Given the description of an element on the screen output the (x, y) to click on. 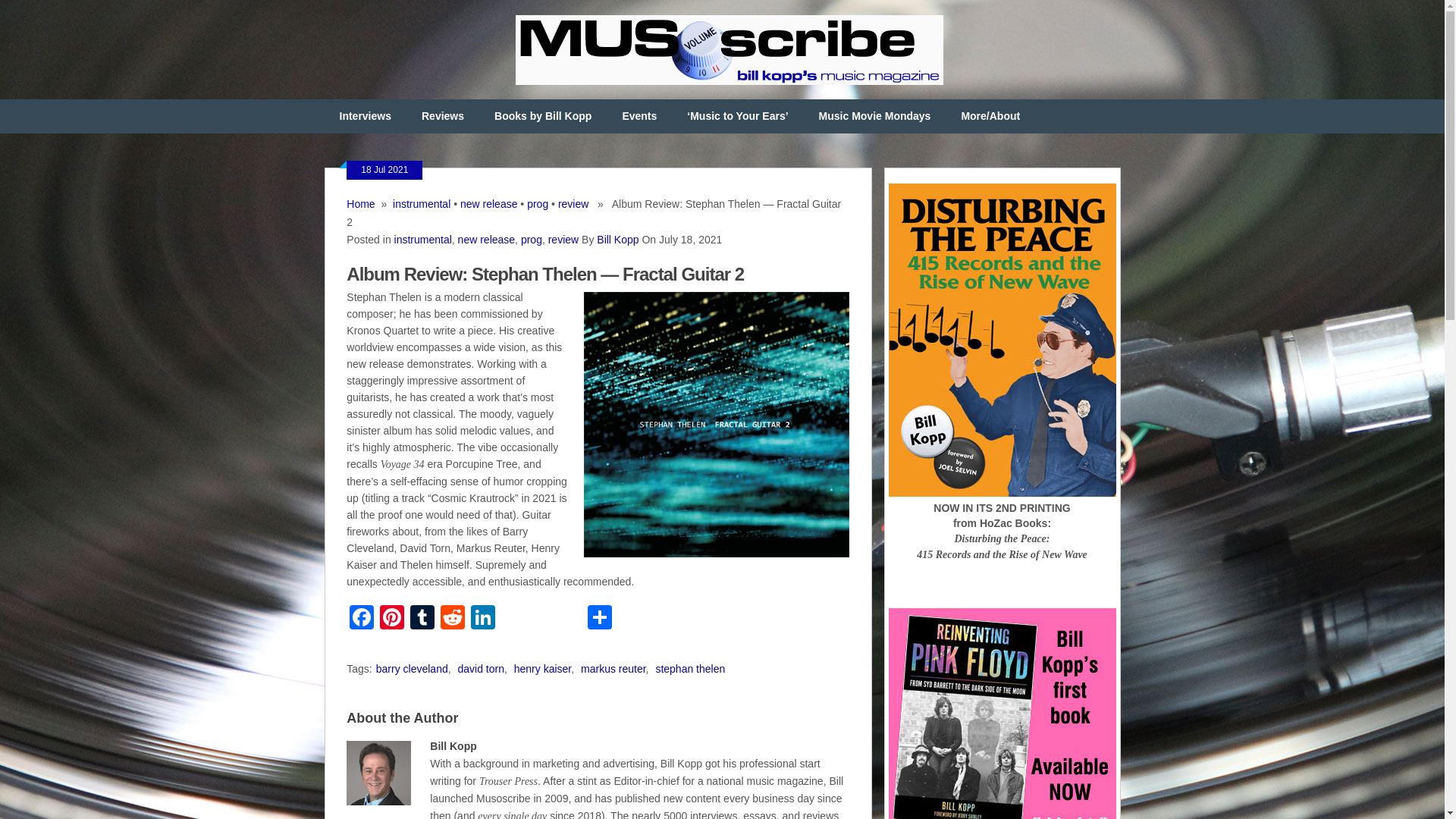
Events (639, 116)
new release (489, 203)
Interviews (365, 116)
Pinterest (392, 619)
instrumental (422, 239)
new release (486, 239)
Tumblr (422, 619)
Reviews (442, 116)
Tumblr (422, 619)
Bill Kopp (617, 239)
Posts by Bill Kopp (617, 239)
Home (360, 203)
Pinterest (392, 619)
Reddit (452, 619)
Books by Bill Kopp (543, 116)
